Given the description of an element on the screen output the (x, y) to click on. 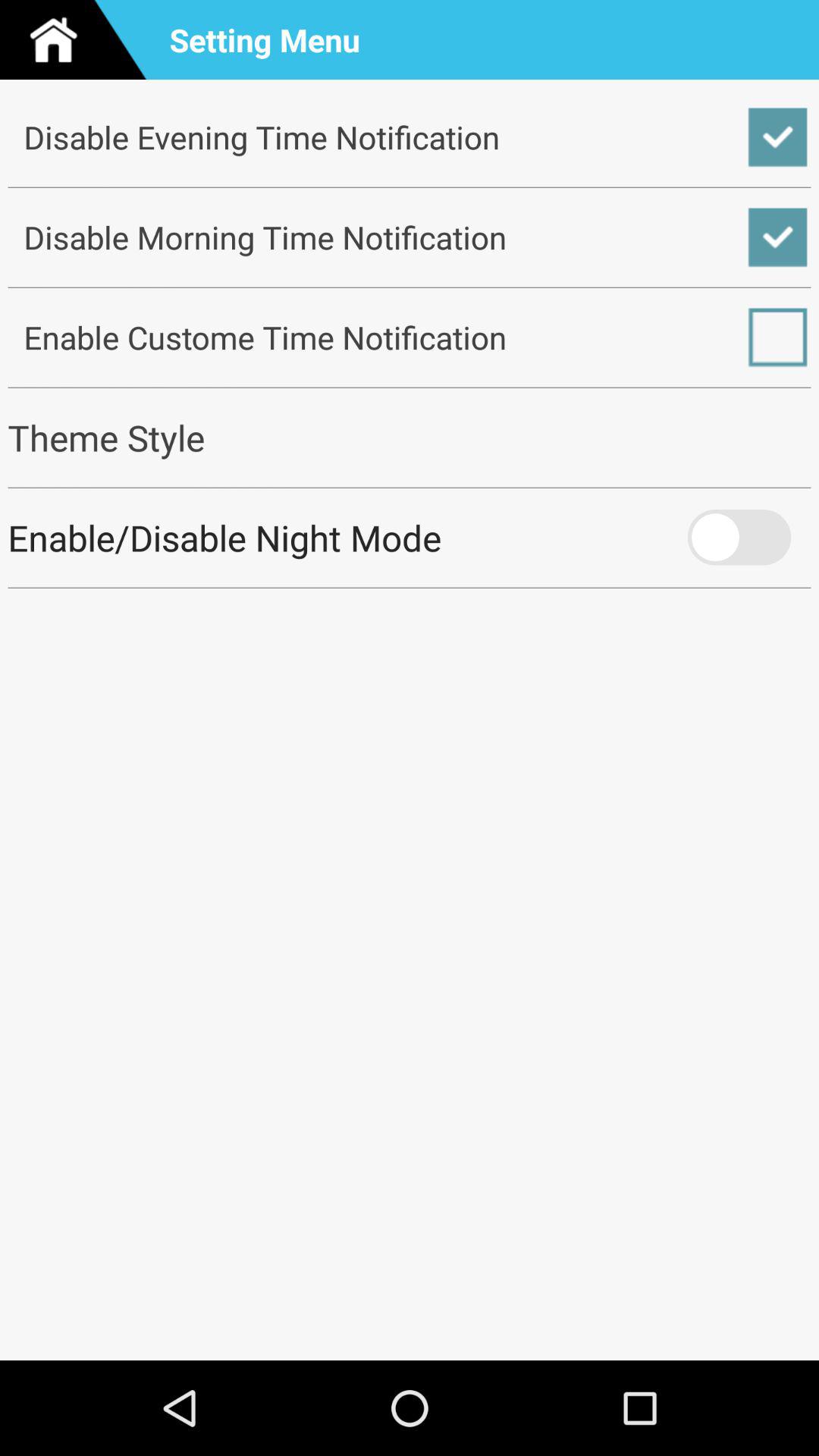
go to home (79, 39)
